Given the description of an element on the screen output the (x, y) to click on. 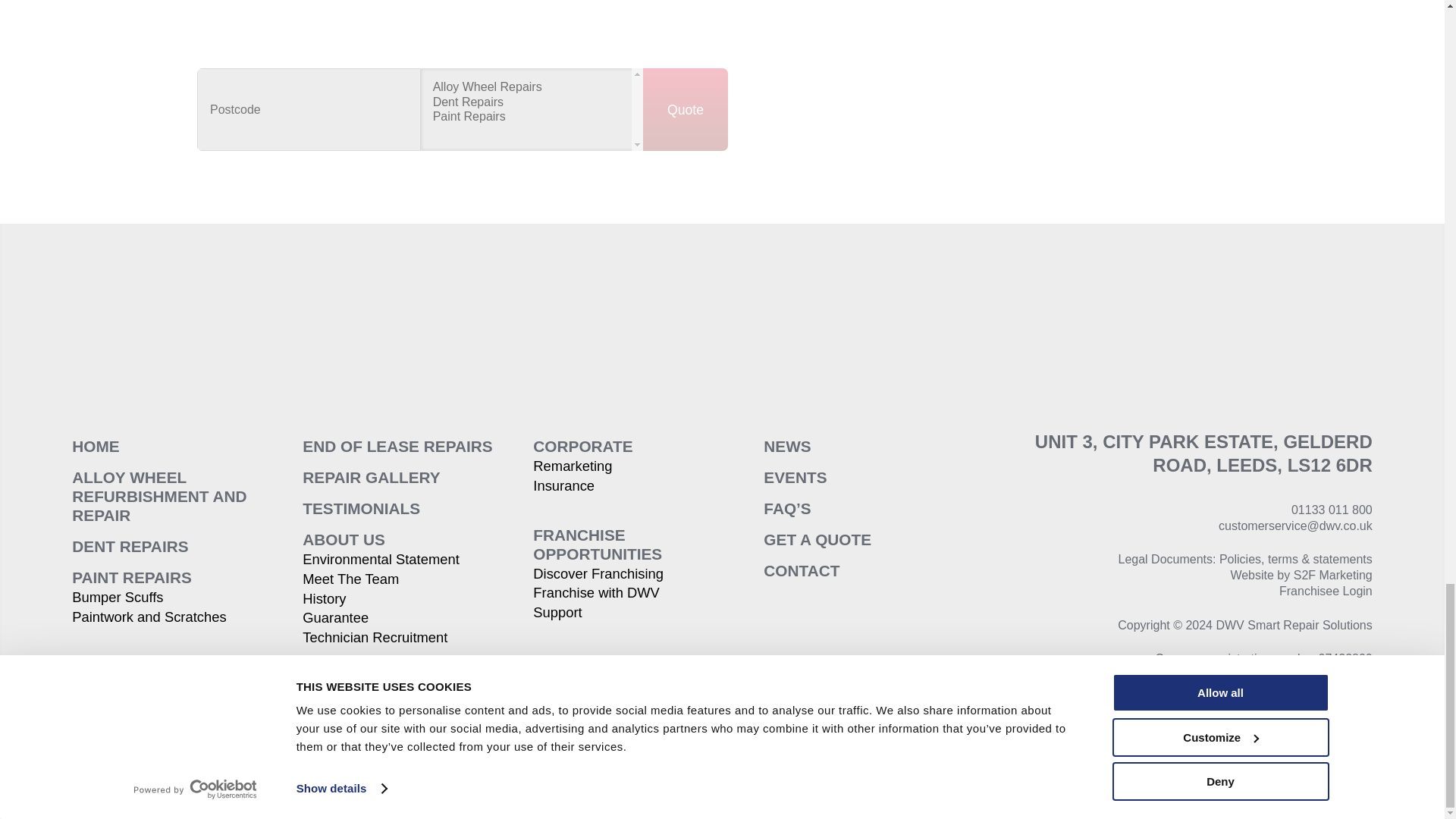
Quote (685, 108)
